Given the description of an element on the screen output the (x, y) to click on. 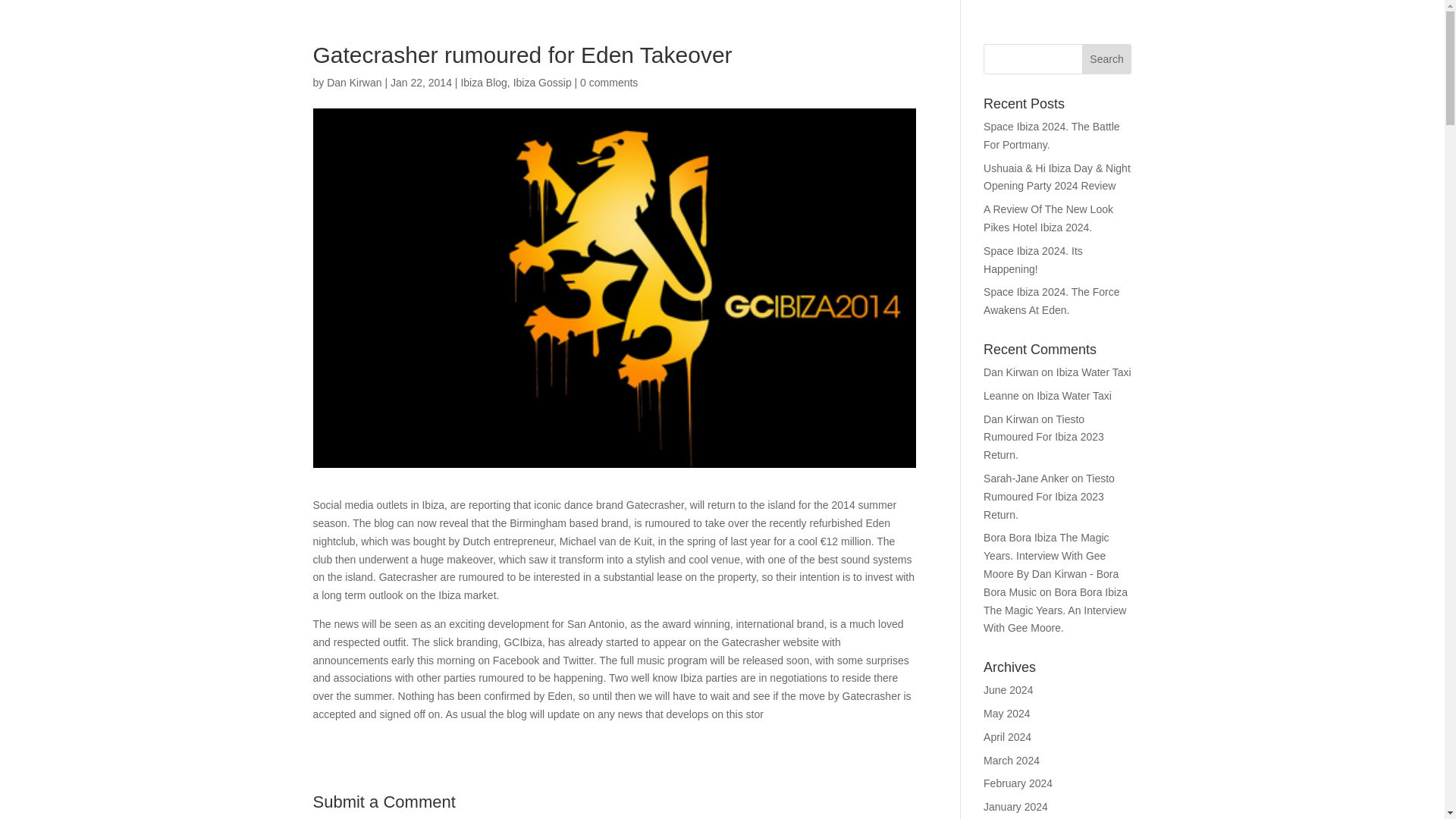
A Review Of The New Look Pikes Hotel Ibiza 2024. (1048, 218)
February 2024 (1018, 783)
Dan Kirwan (353, 82)
Search (1106, 59)
Ibiza Water Taxi (1074, 395)
Space Ibiza 2024. The Force Awakens At Eden. (1051, 300)
March 2024 (1011, 760)
Dan Kirwan (1011, 419)
0 comments (608, 82)
